Given the description of an element on the screen output the (x, y) to click on. 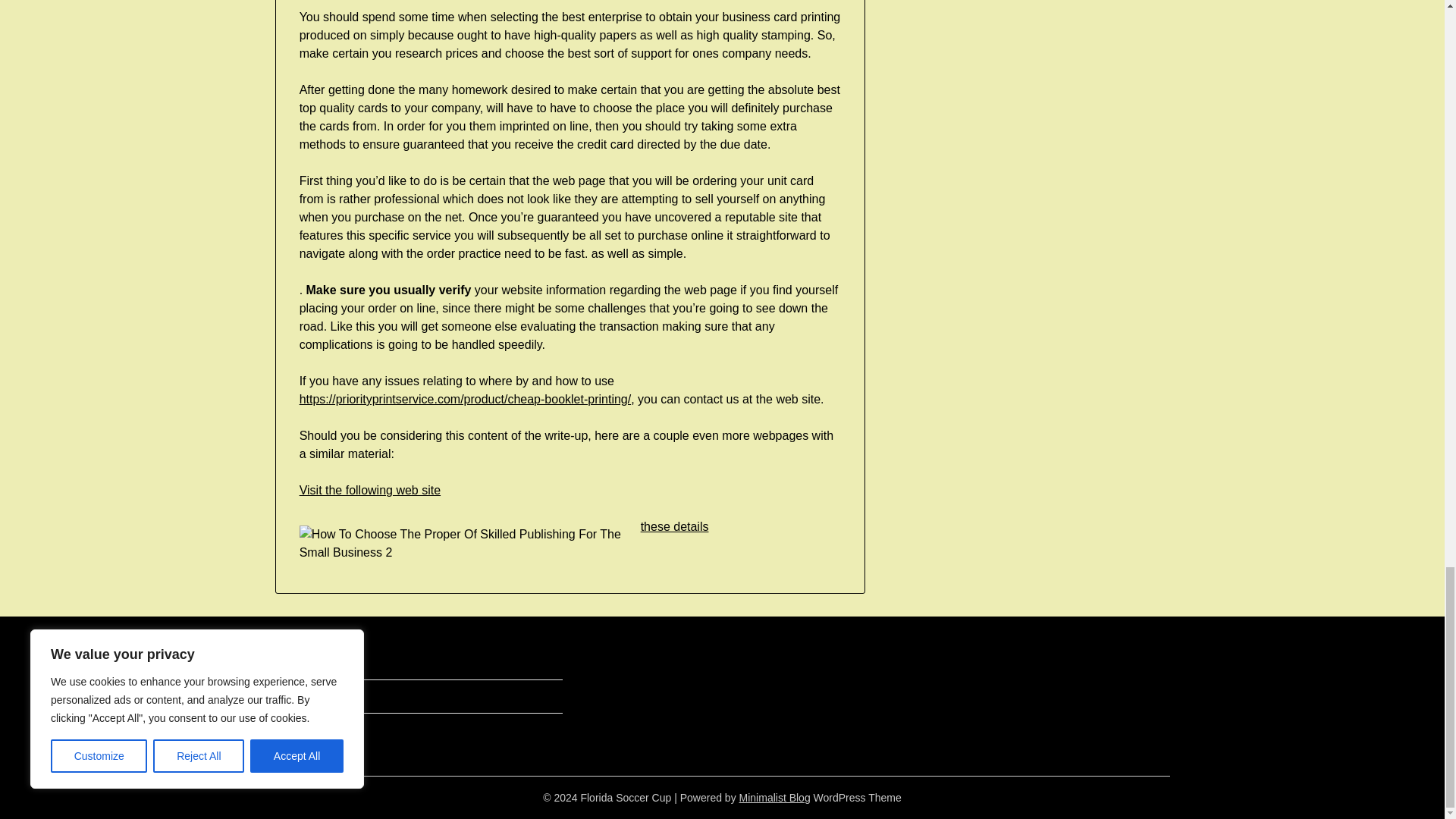
Visit the following web site (370, 490)
these details (674, 526)
